Given the description of an element on the screen output the (x, y) to click on. 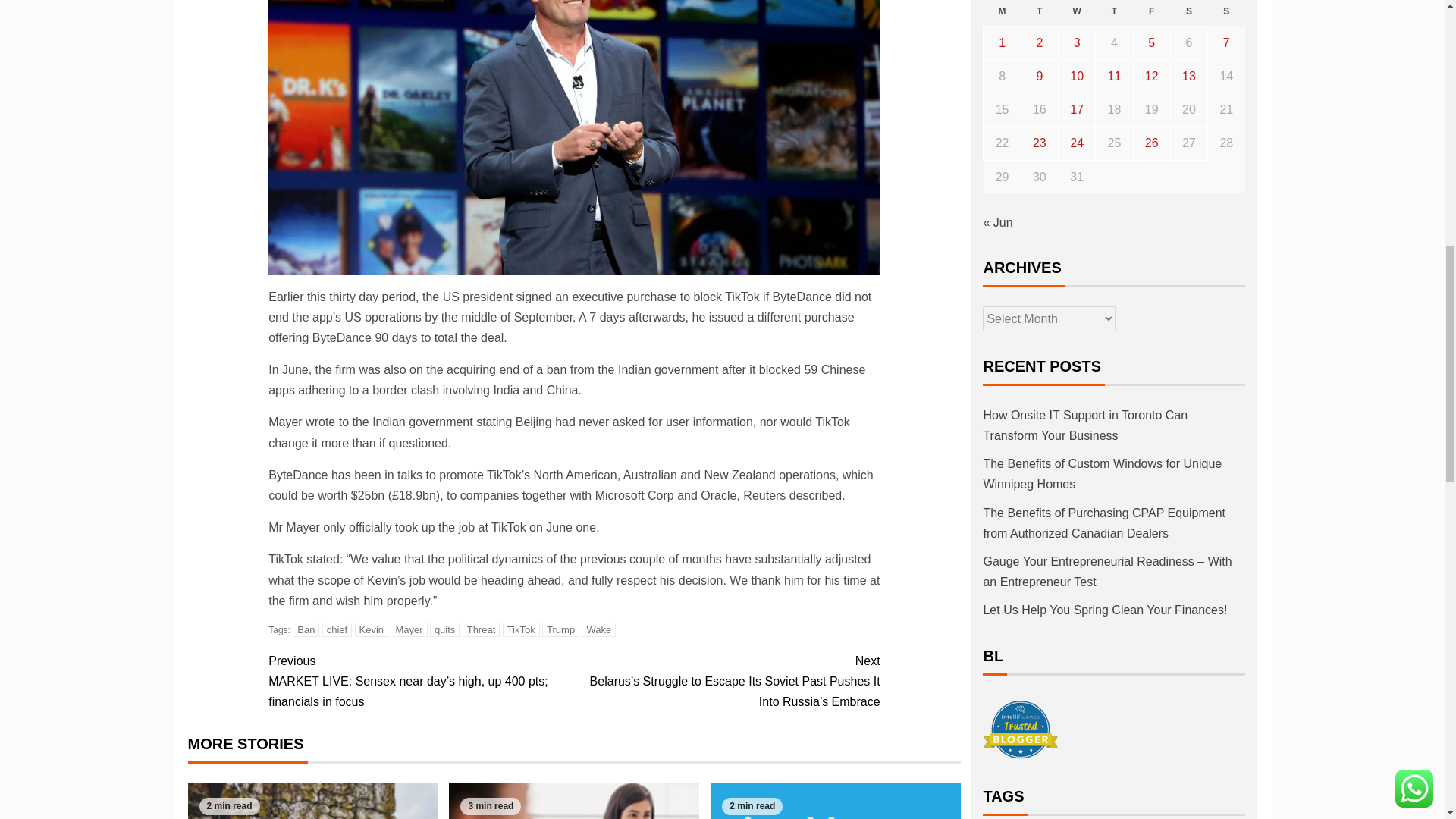
The Upside to Trade Finance Advisory (573, 800)
Monday (1002, 12)
Ban (305, 629)
chief (336, 629)
Threat (481, 629)
Kevin (371, 629)
Thursday (1114, 12)
quits (444, 629)
Mayer (408, 629)
Friday (1151, 12)
Wednesday (1077, 12)
Tuesday (1039, 12)
